Given the description of an element on the screen output the (x, y) to click on. 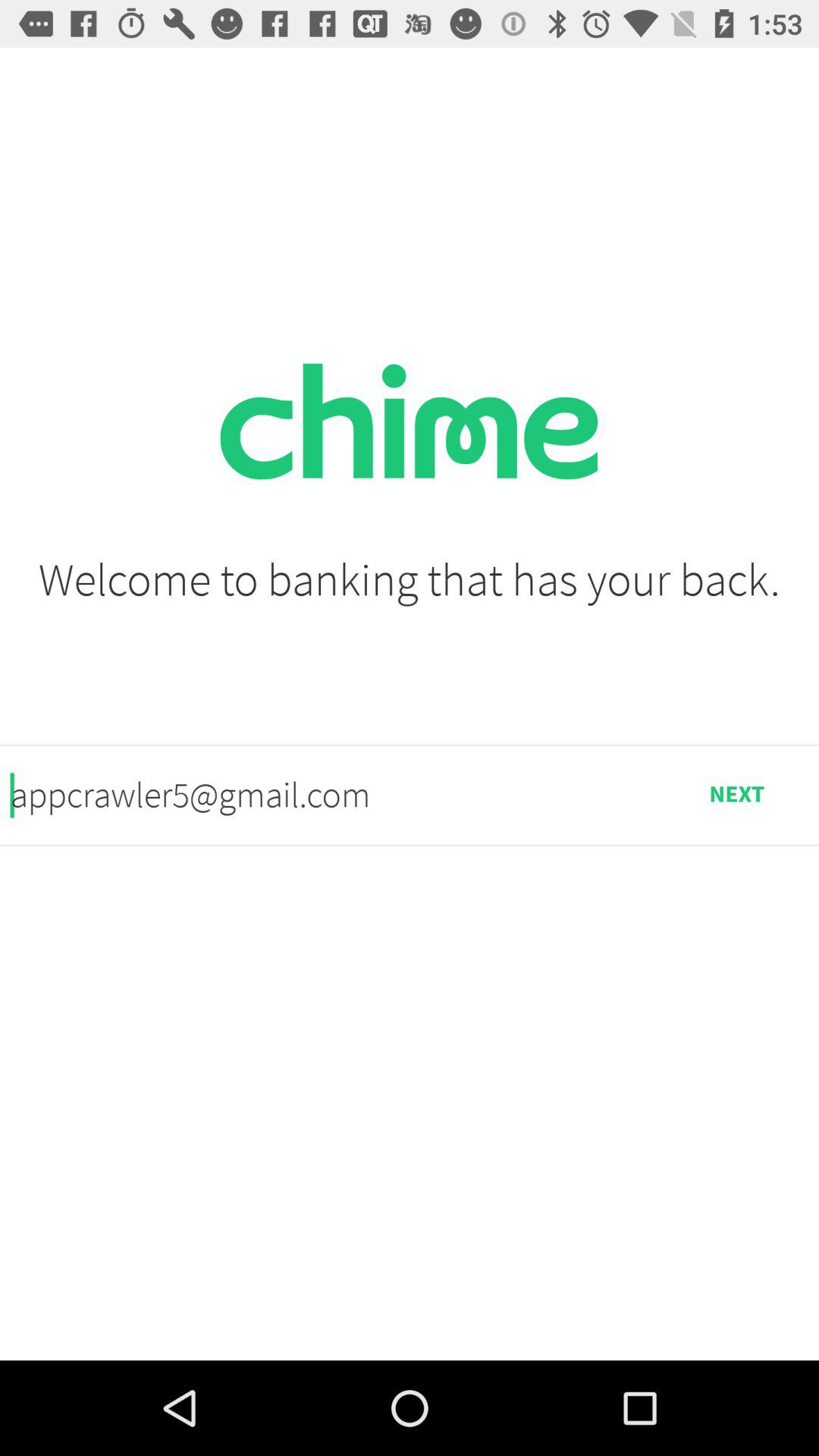
turn off icon to the left of next item (332, 794)
